Given the description of an element on the screen output the (x, y) to click on. 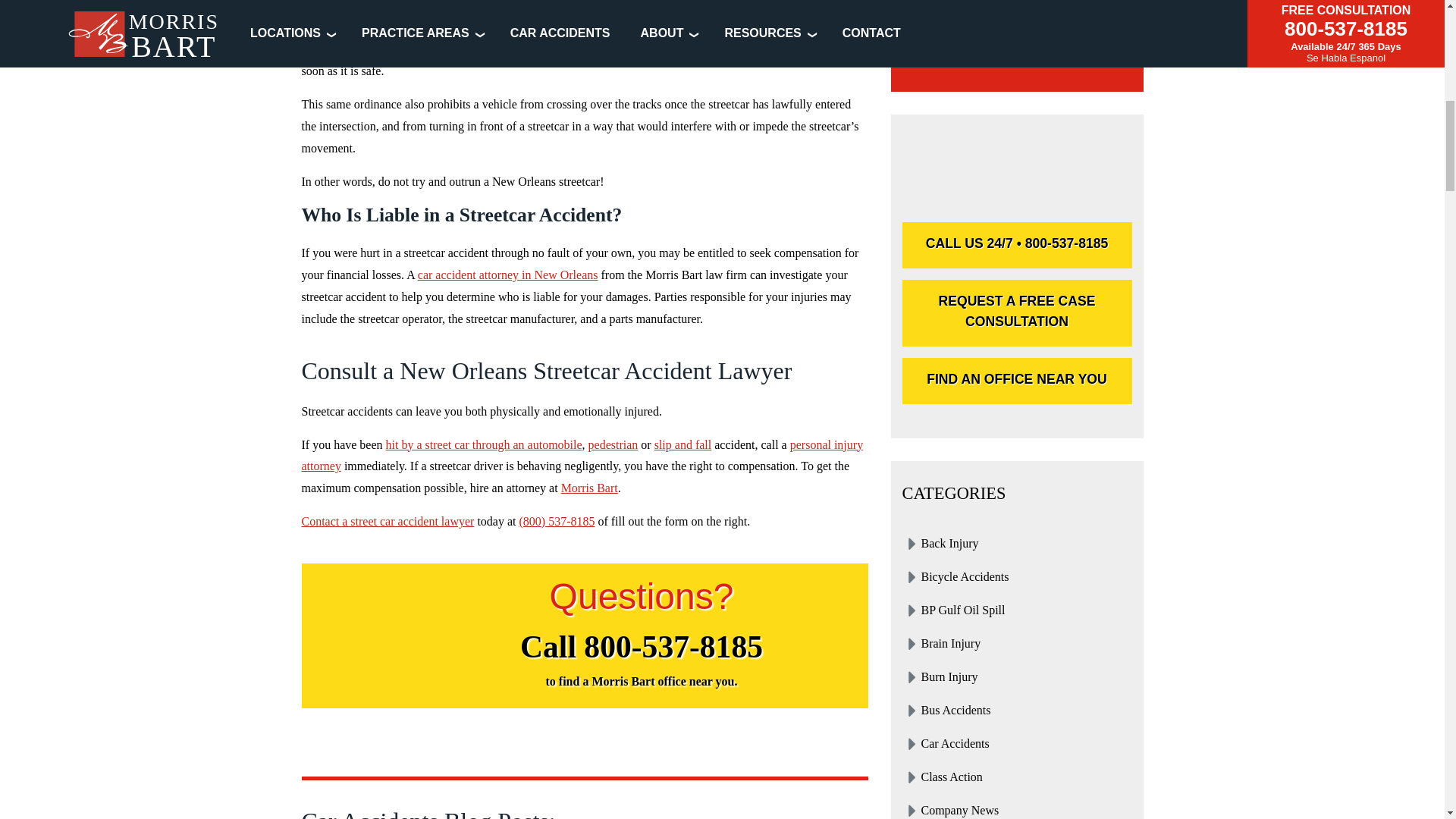
Submit Free Case Review (1017, 29)
